Given the description of an element on the screen output the (x, y) to click on. 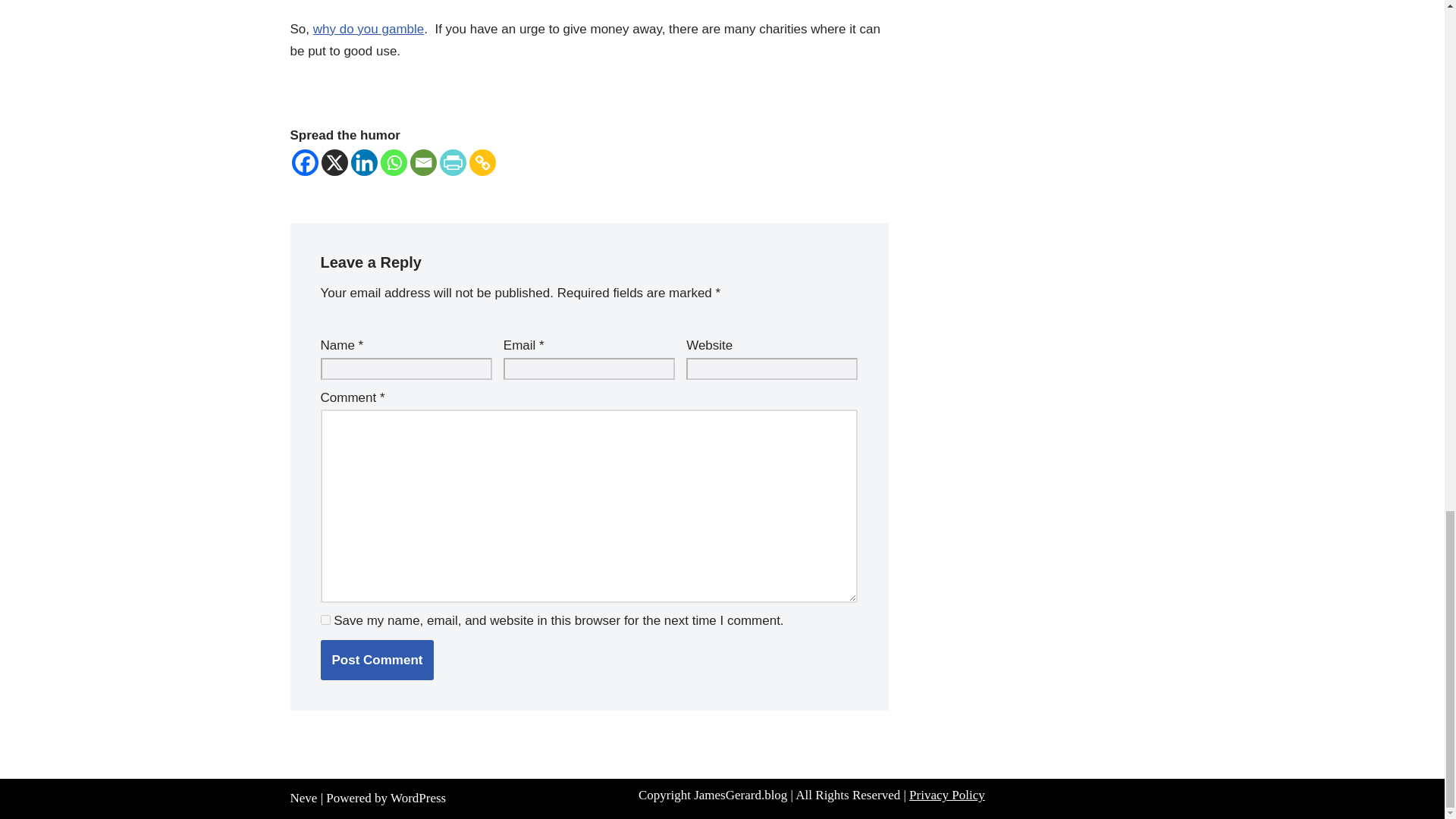
Linkedin (363, 162)
PrintFriendly (452, 162)
Email (422, 162)
Post Comment (376, 659)
Copy Link (481, 162)
yes (325, 619)
Facebook (304, 162)
X (334, 162)
why do you gamble (368, 29)
Whatsapp (393, 162)
